Given the description of an element on the screen output the (x, y) to click on. 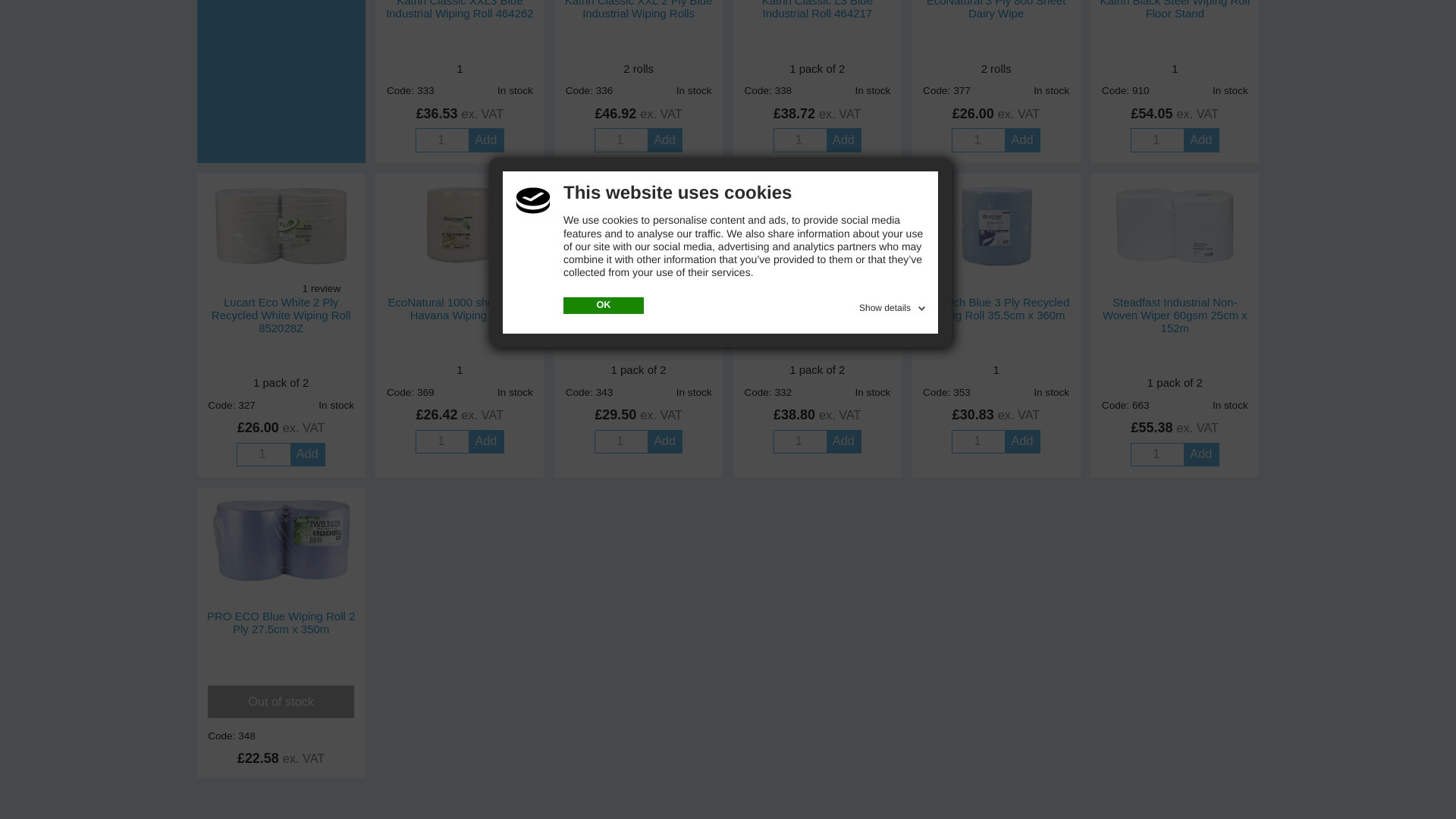
1 (440, 139)
1 (799, 139)
1 (620, 139)
1 (1155, 139)
1 (976, 139)
